Given the description of an element on the screen output the (x, y) to click on. 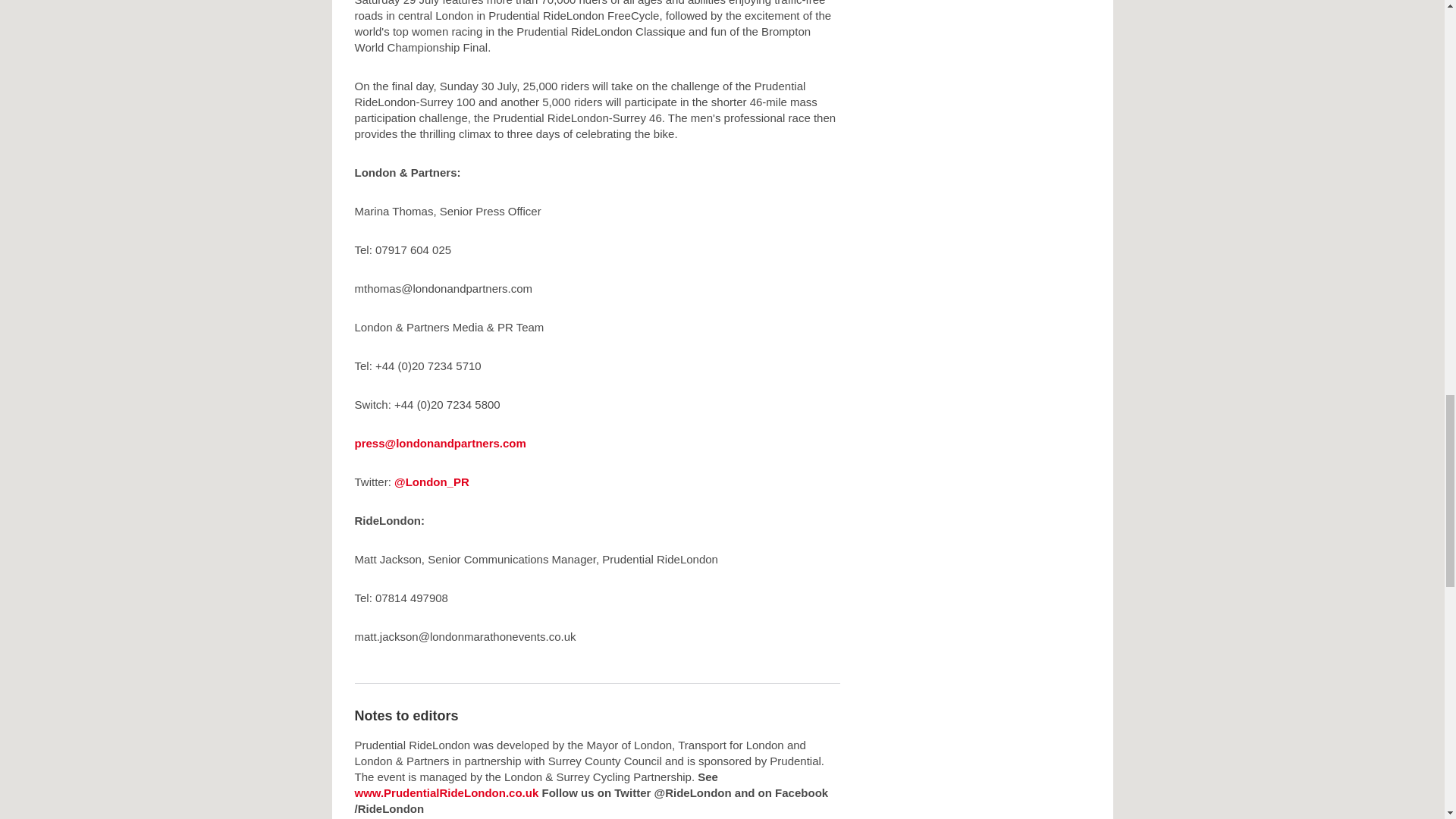
Link will open in a new window (431, 481)
Link will open in a new window (446, 792)
www.PrudentialRideLondon.co.uk (446, 792)
